Given the description of an element on the screen output the (x, y) to click on. 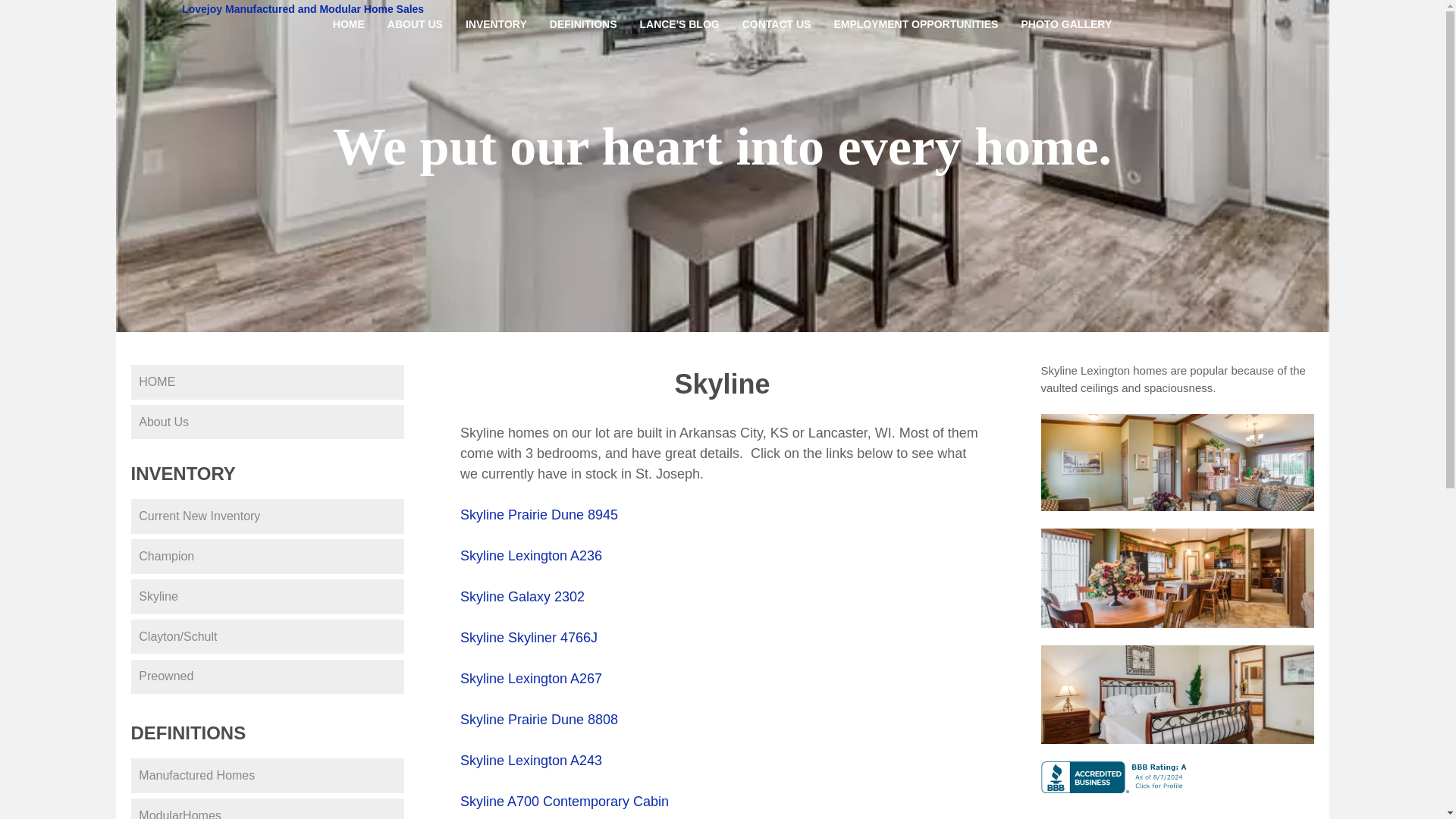
Skyline Lexington A267 (531, 678)
Skyline Skyliner 4766J (528, 637)
Champion (267, 556)
ModularHomes (267, 808)
Skyline (267, 596)
Skyline Lexington Bedroom (1177, 694)
Skyline A700 Contemporary Cabin (564, 801)
Skyline Lexington A236 (531, 555)
Lovejoy Manufactured and Modular Home Sales (302, 8)
Skyline Galaxy 2302 (522, 596)
